Given the description of an element on the screen output the (x, y) to click on. 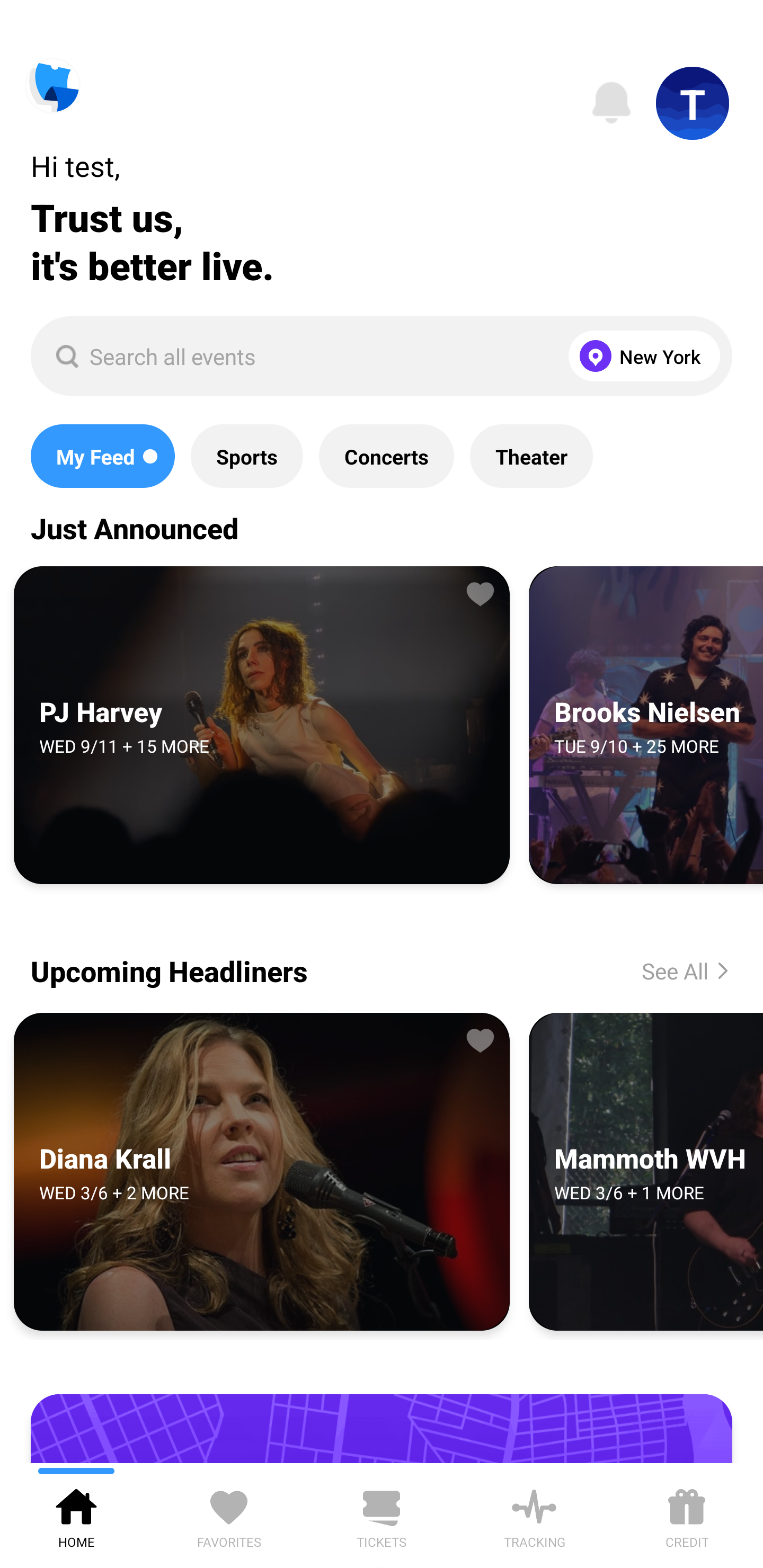
T (692, 103)
New York (640, 355)
My Feed (102, 455)
Sports (246, 455)
Concerts (385, 455)
Theater (531, 455)
See All  (670, 970)
HOME (76, 1515)
FAVORITES (228, 1515)
TICKETS (381, 1515)
TRACKING (533, 1515)
CREDIT (686, 1515)
